Given the description of an element on the screen output the (x, y) to click on. 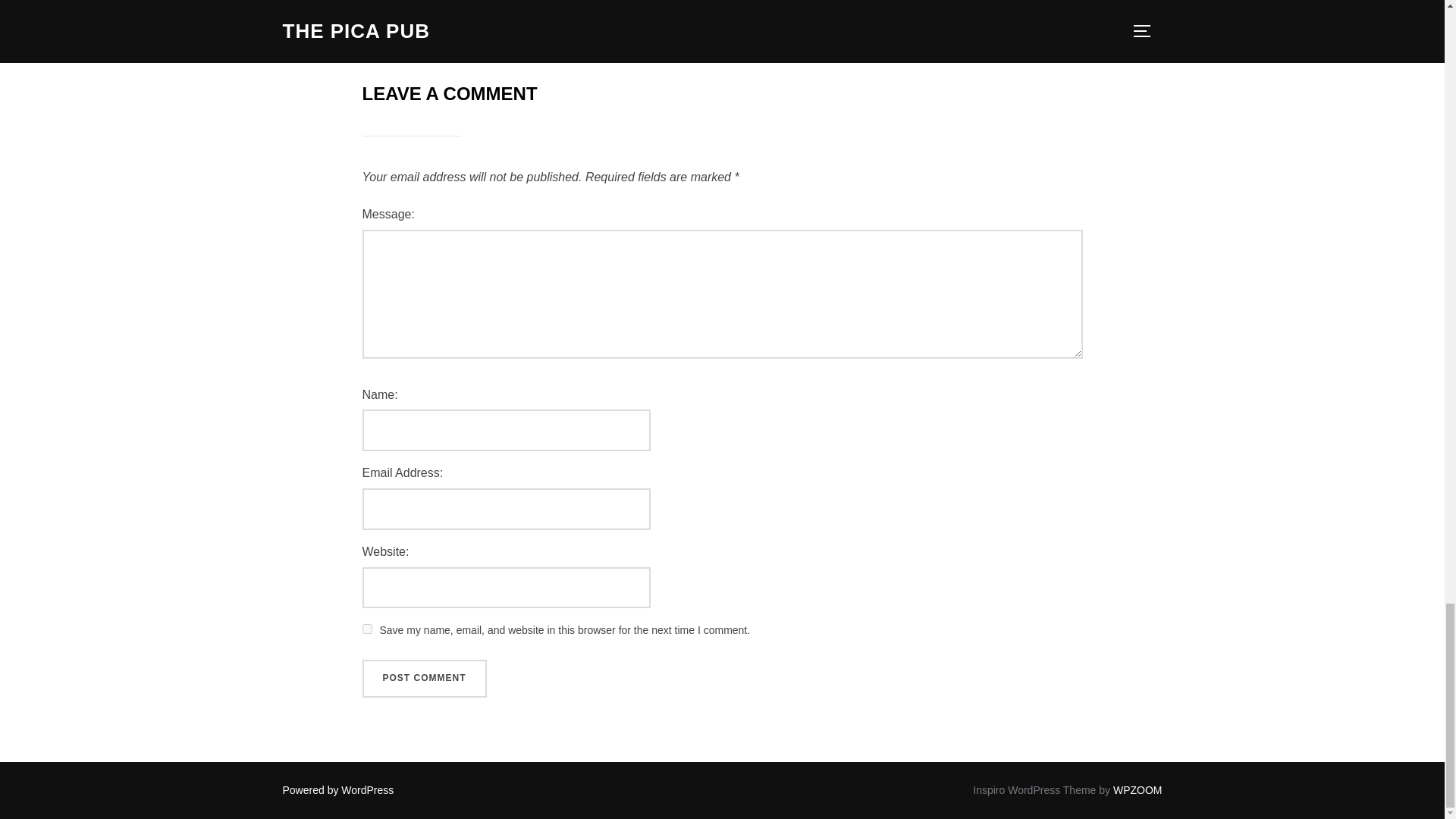
WPZOOM (1137, 789)
yes (367, 628)
Post Comment (424, 678)
Powered by WordPress (337, 789)
Post Comment (424, 678)
